Given the description of an element on the screen output the (x, y) to click on. 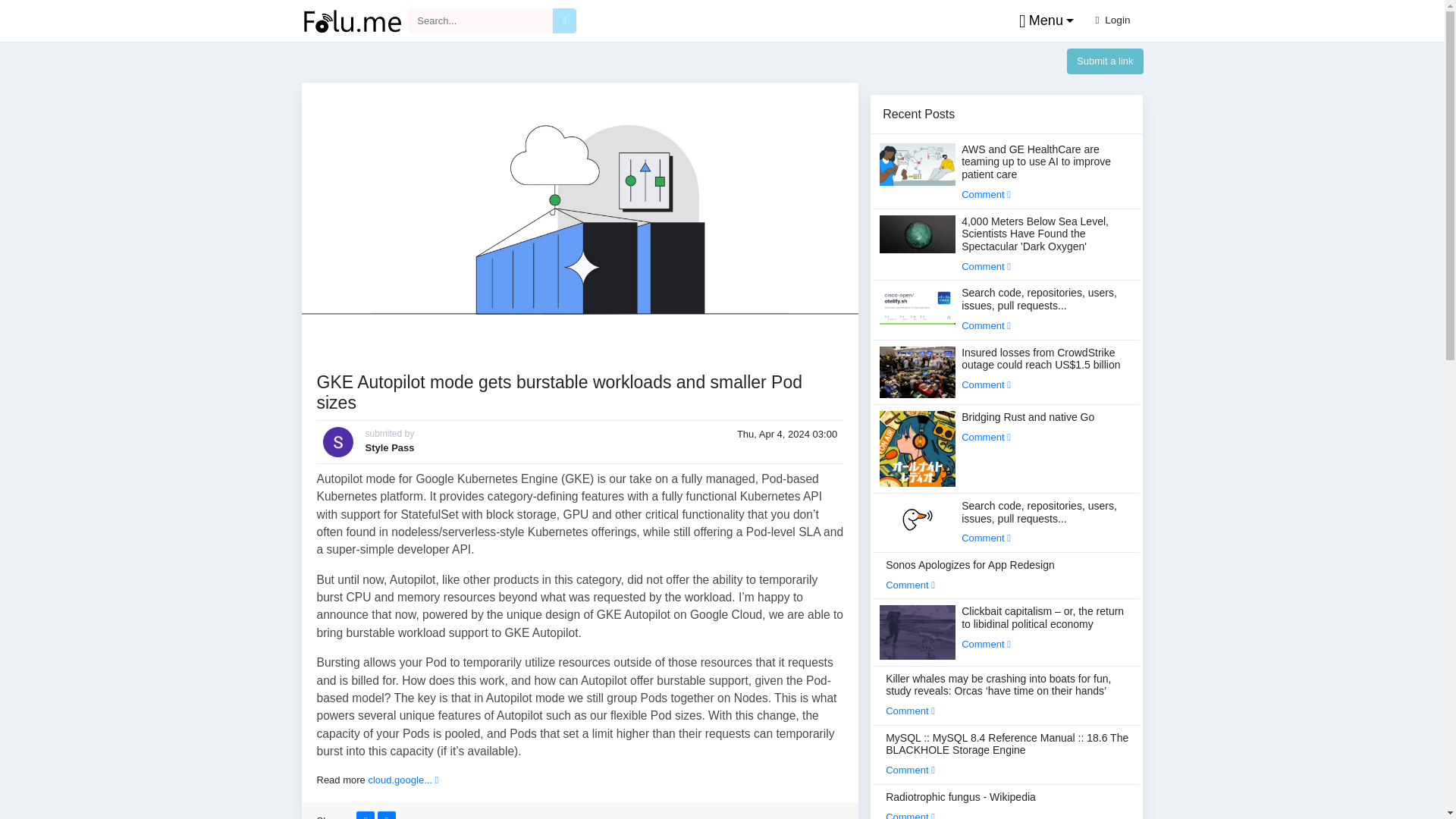
cloud.google... (403, 779)
Submit a link (1104, 61)
Menu (1043, 20)
